Given the description of an element on the screen output the (x, y) to click on. 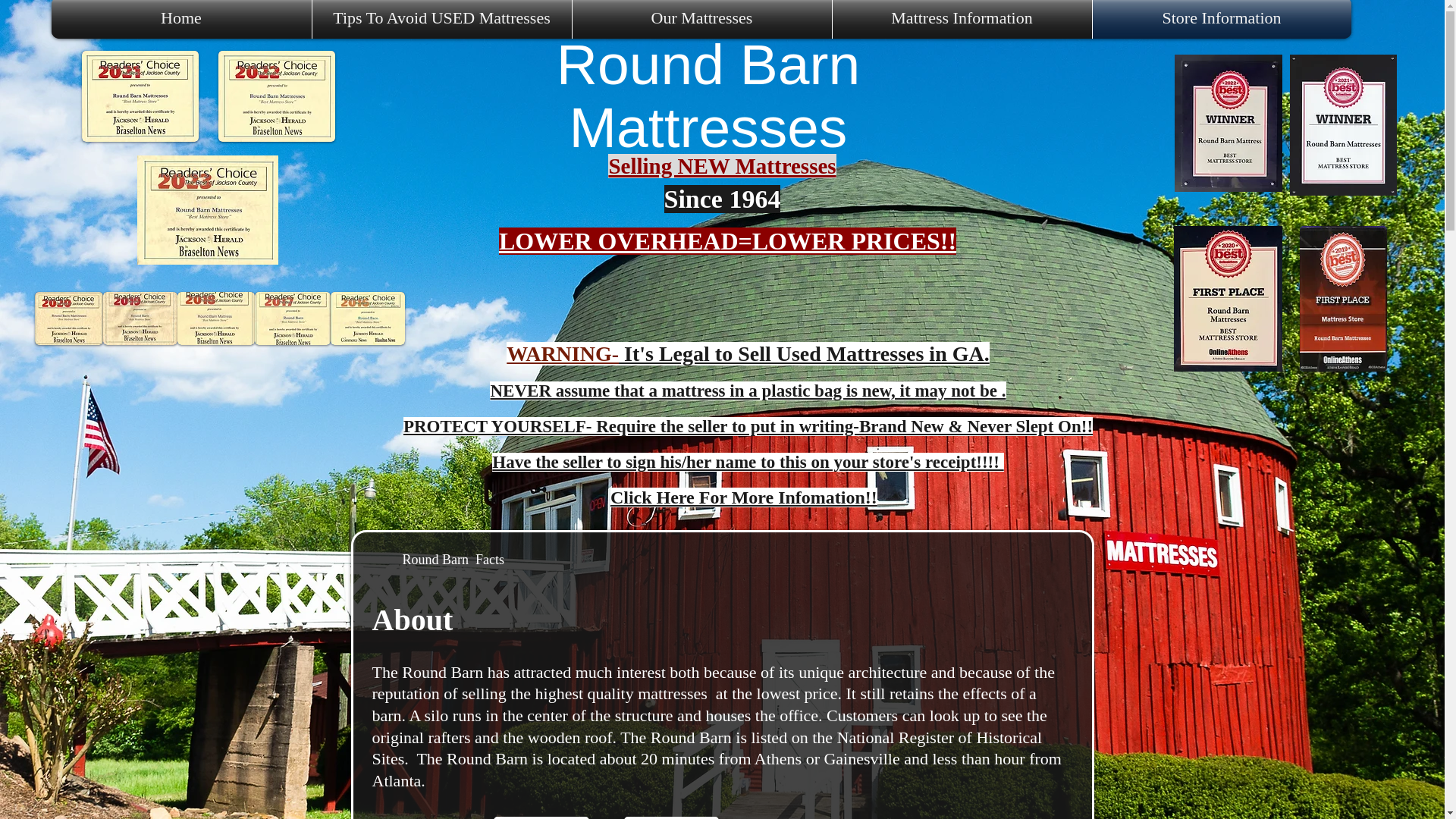
WARNING- It's Legal to Sell Used Mattresses in GA. (747, 353)
Our Mattresses (701, 19)
Mattress Information (962, 19)
Tips To Avoid USED Mattresses (442, 19)
Store Information (1221, 19)
Home (180, 19)
scan0003.jpg (207, 209)
Click Here For More Infomation!! (743, 496)
